Given the description of an element on the screen output the (x, y) to click on. 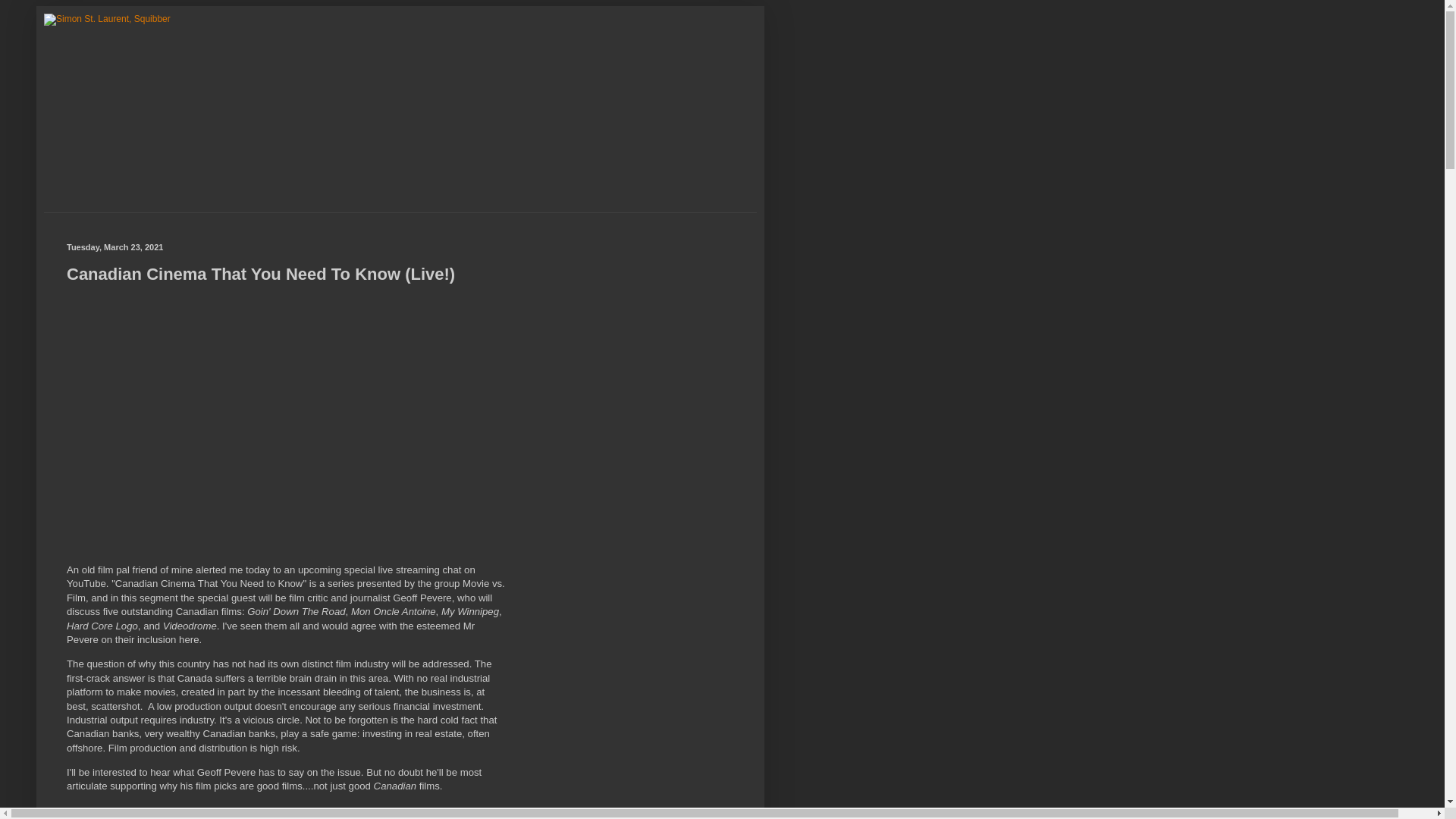
YouTube video player (279, 415)
